Given the description of an element on the screen output the (x, y) to click on. 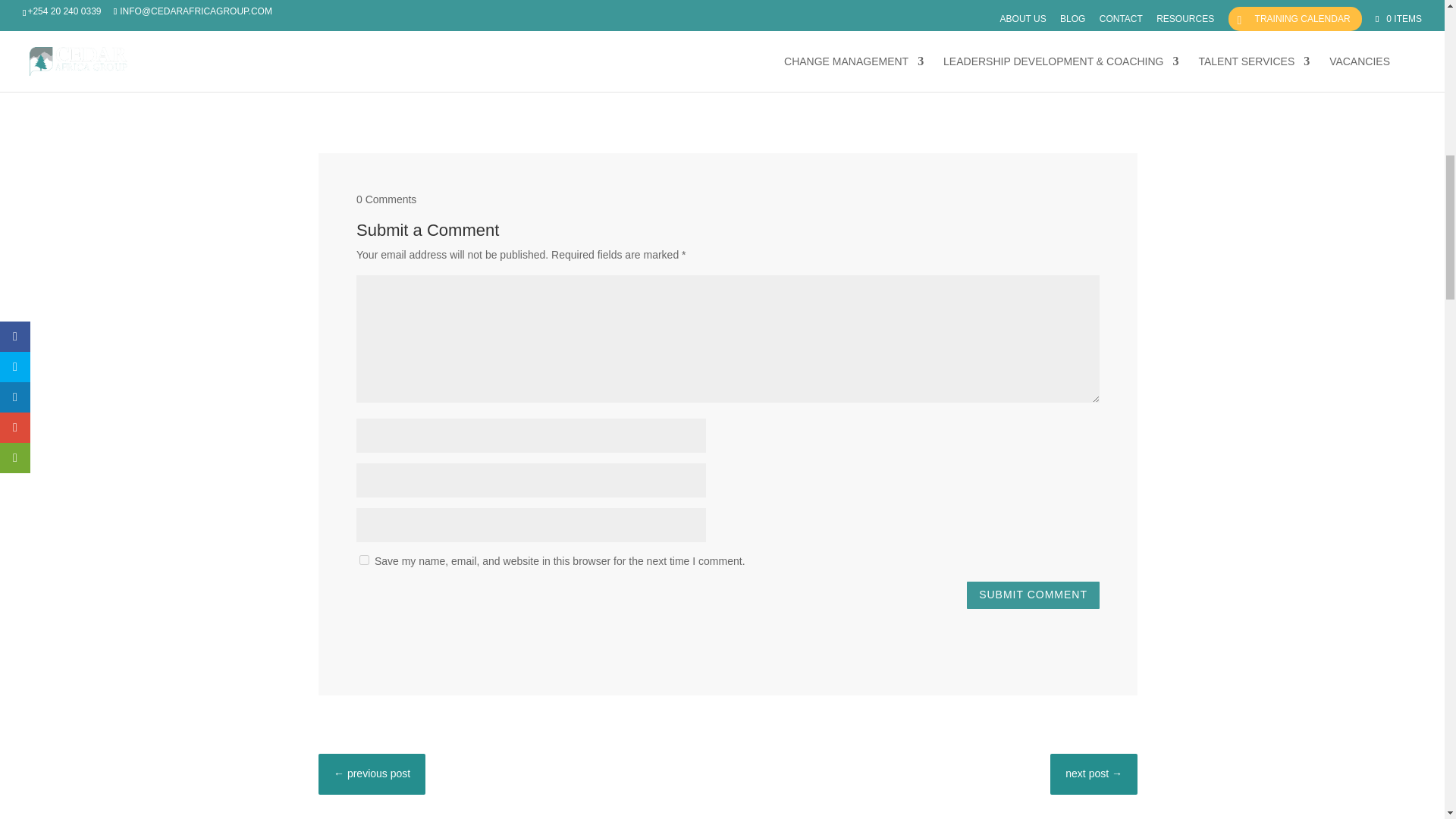
yes (364, 560)
